Given the description of an element on the screen output the (x, y) to click on. 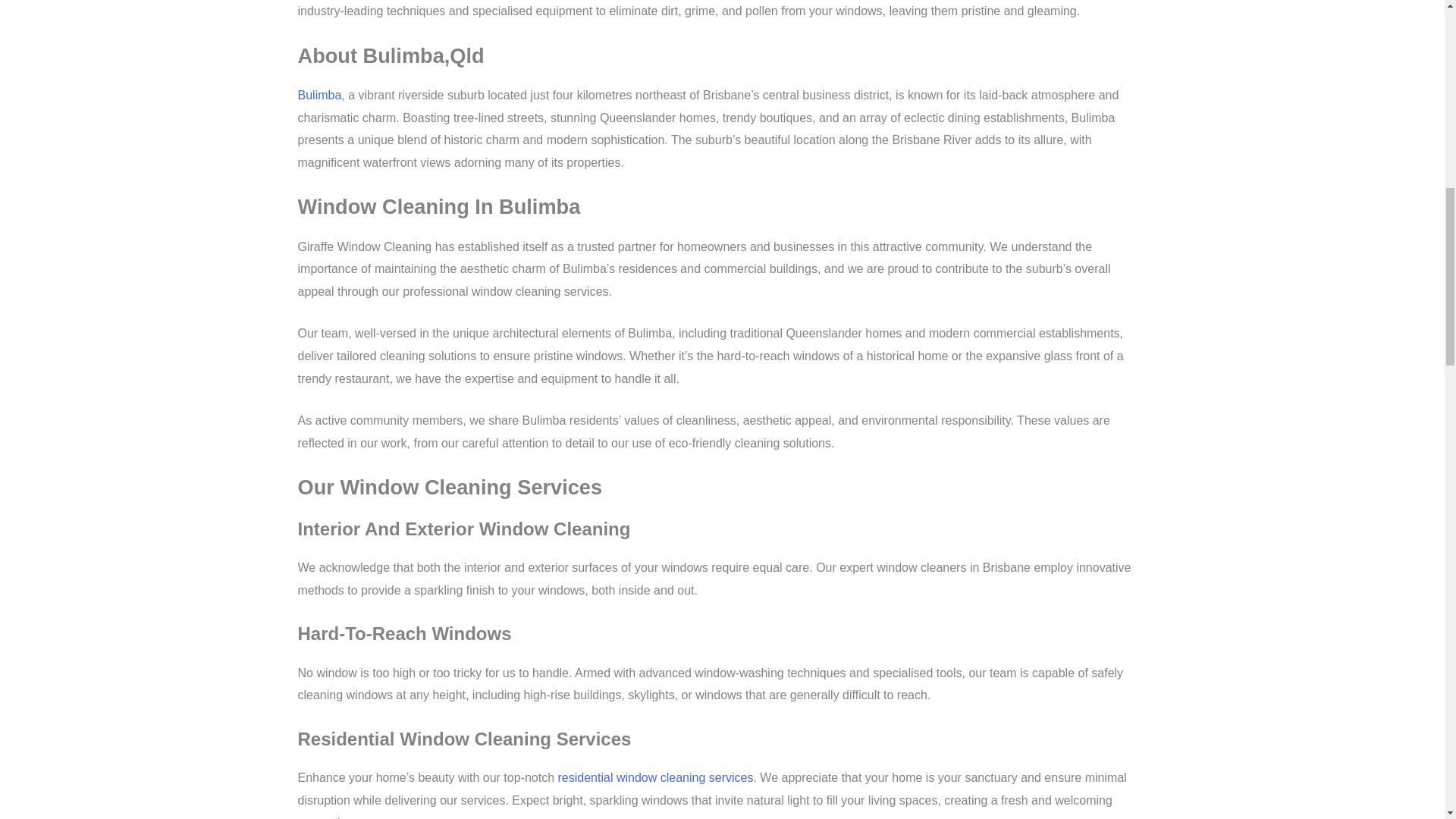
Bulimba (318, 94)
residential window cleaning services (655, 777)
